Given the description of an element on the screen output the (x, y) to click on. 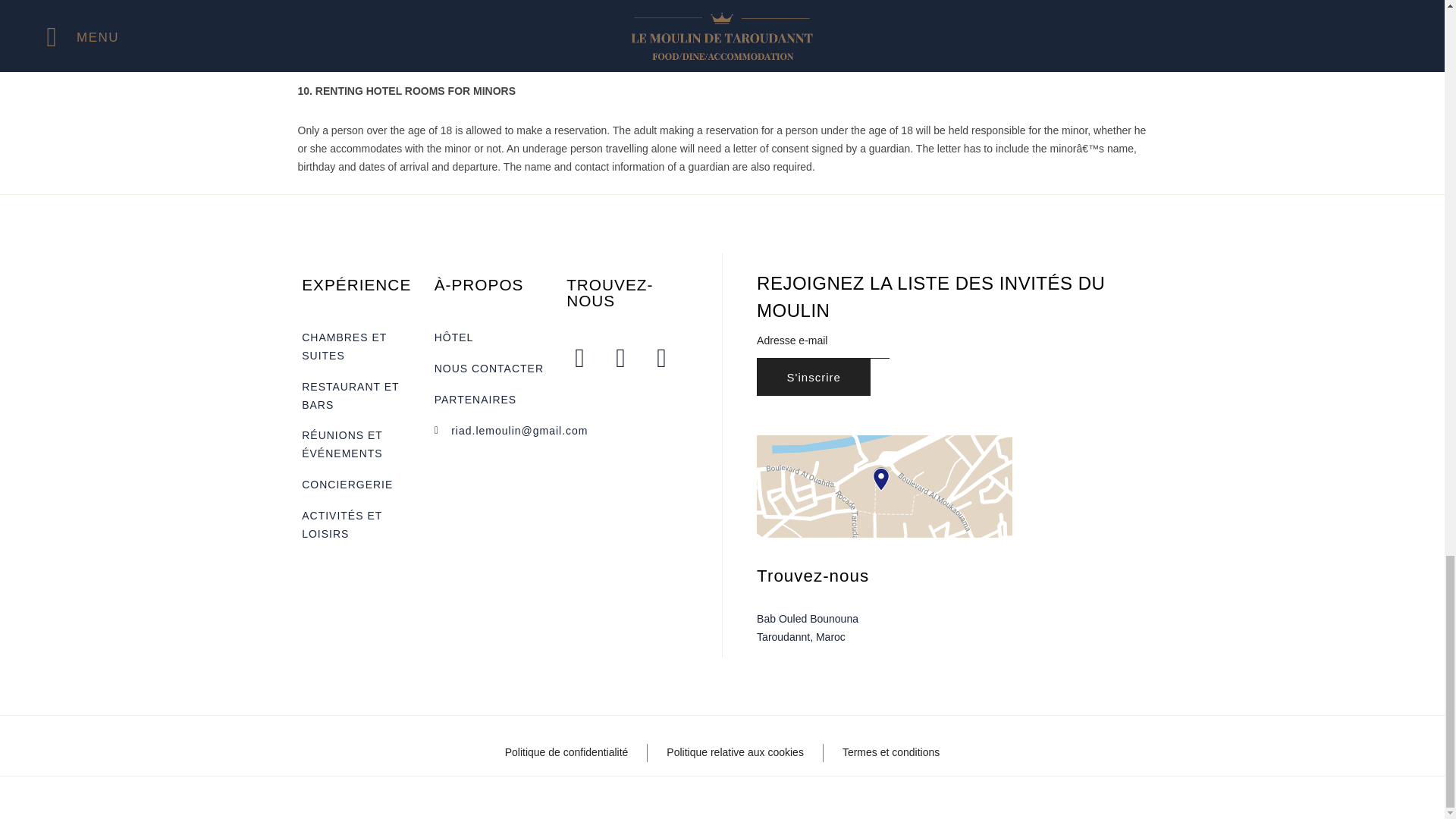
NOUS CONTACTER (492, 369)
Termes et conditions (891, 752)
Politique relative aux cookies (734, 752)
S'inscrire (813, 376)
CHAMBRES ET SUITES (360, 347)
PARTENAIRES (492, 400)
CONCIERGERIE (360, 484)
hotel-le-moulin-de-taroudant-map (884, 485)
S'inscrire (813, 376)
RESTAURANT ET BARS (360, 396)
